Given the description of an element on the screen output the (x, y) to click on. 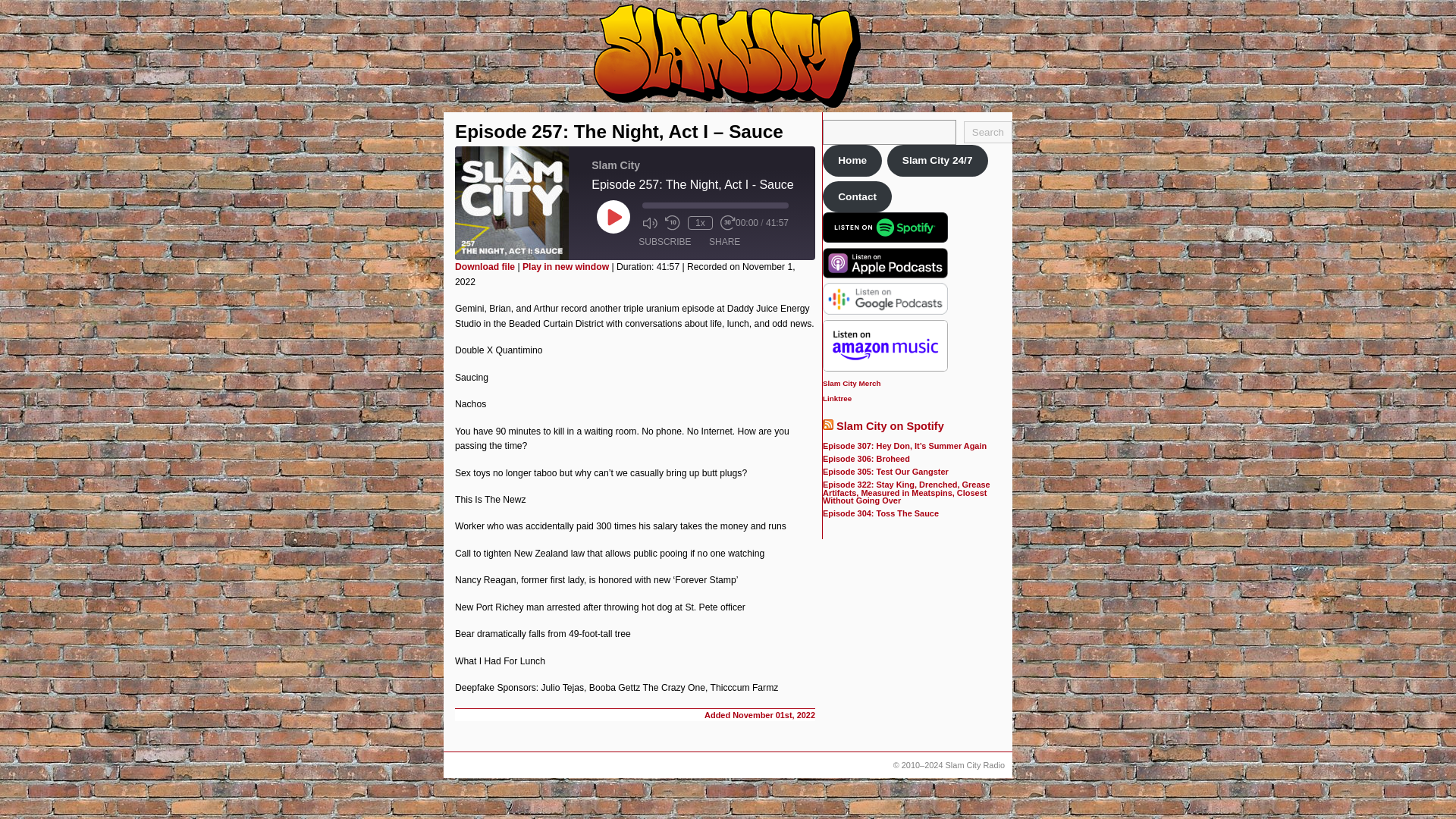
Episode 306: Broheed (866, 458)
Subscribe (664, 241)
Rewind 10 Seconds (672, 222)
Slam City on Spotify (889, 426)
Play (613, 216)
Slam City Merch (851, 383)
SHARE (724, 241)
Rewind 10 seconds (672, 222)
Fast Forward 30 seconds (727, 222)
Episode 304: Toss The Sauce (880, 512)
1x (700, 223)
Seek (715, 205)
Play Episode (613, 216)
Search (987, 132)
